Given the description of an element on the screen output the (x, y) to click on. 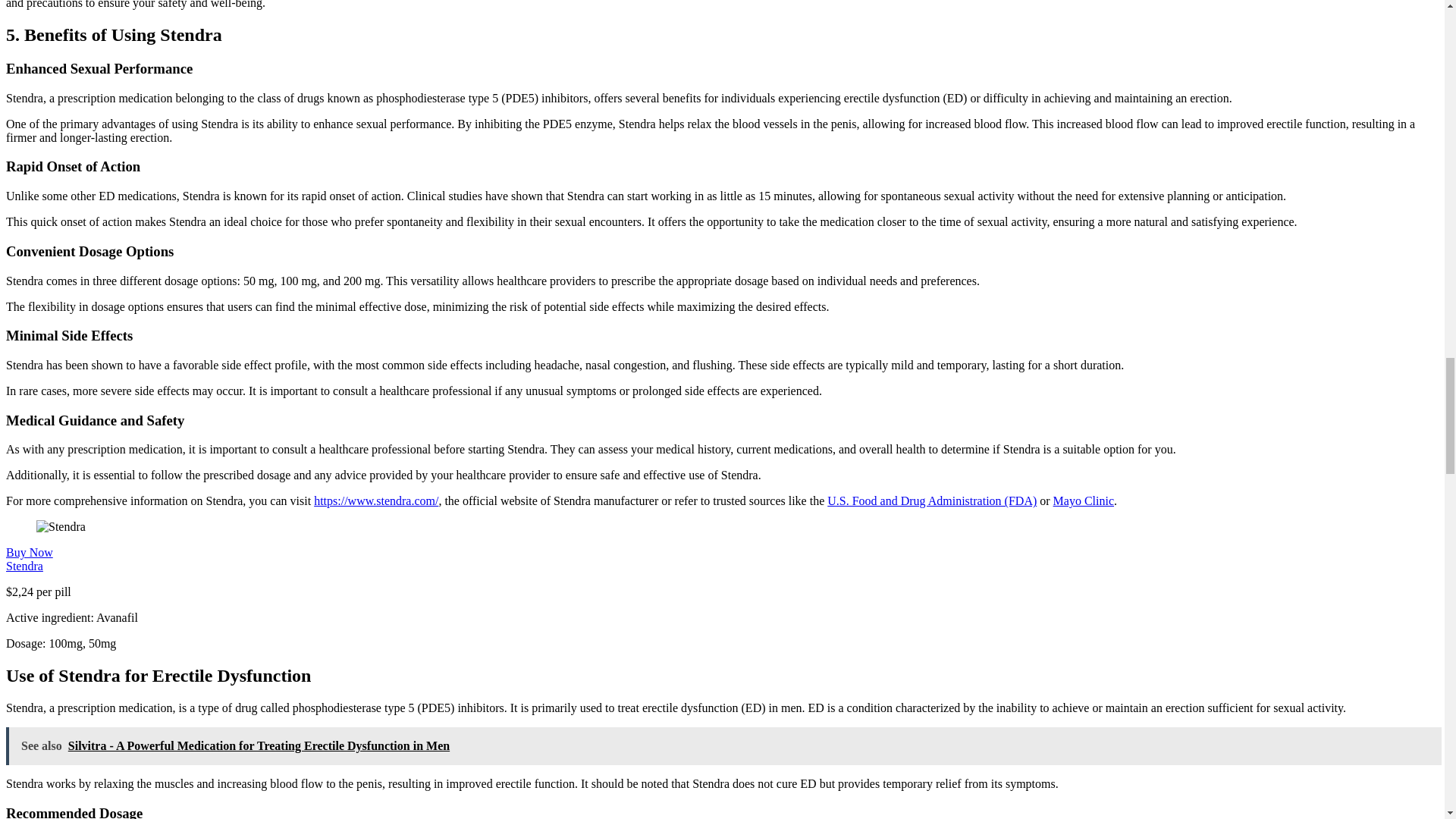
Buy Now (28, 552)
Buy Now (28, 552)
Stendra (24, 565)
Stendra (24, 565)
Mayo Clinic (1082, 500)
